Given the description of an element on the screen output the (x, y) to click on. 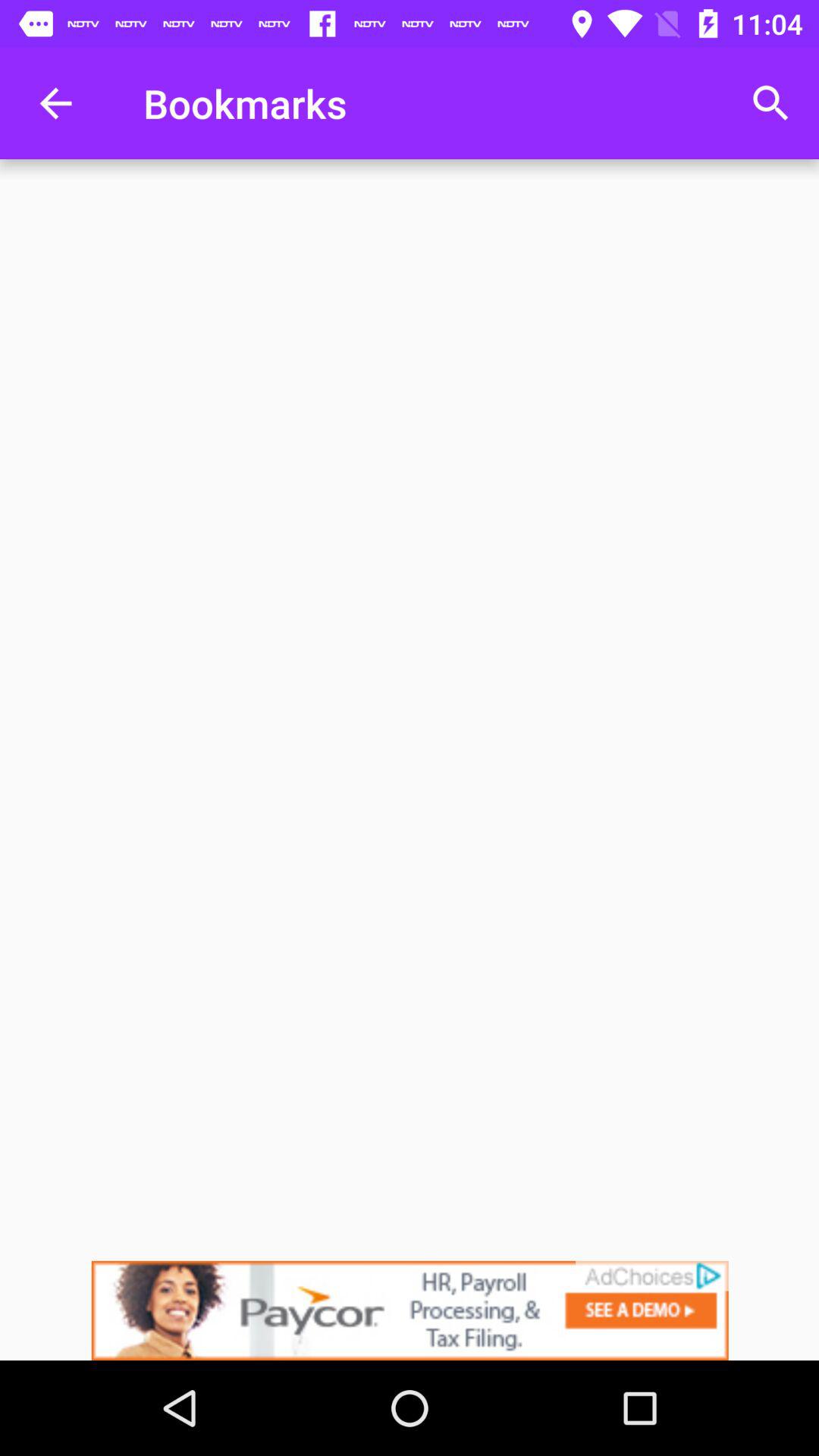
click advertisement (409, 1310)
